Given the description of an element on the screen output the (x, y) to click on. 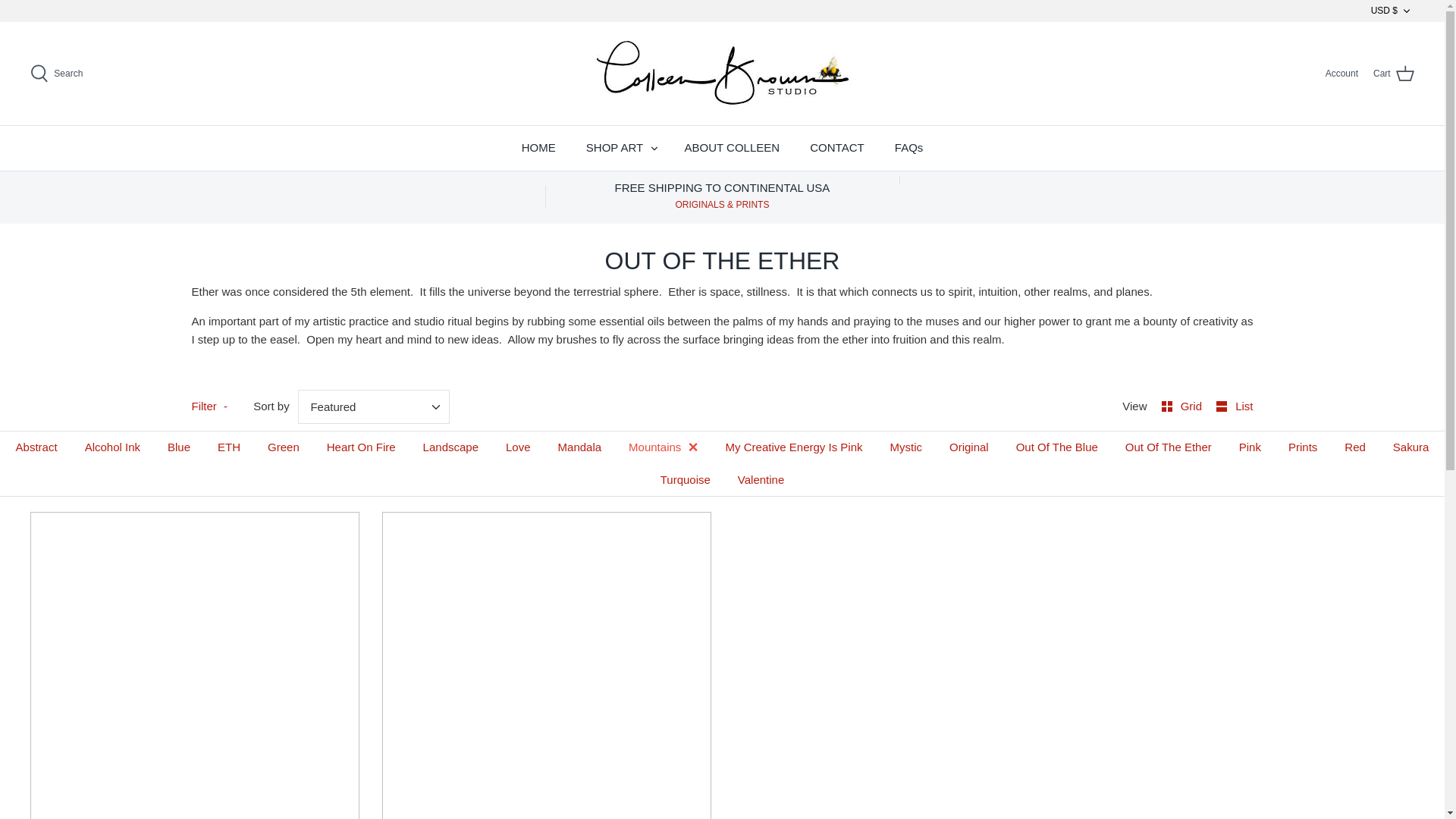
Remove tag mountains (662, 447)
Colleen Brown Studio (722, 72)
Narrow selection to products matching tag original (969, 447)
Narrow selection to products matching tag out of the ether (1168, 447)
Narrow selection to products matching tag mandala (579, 447)
Toggle menu (654, 148)
Narrow selection to products matching tag blue (178, 447)
Narrow selection to products matching tag love (518, 447)
Narrow selection to products matching tag green (283, 447)
Down (1406, 10)
Narrow selection to products matching tag abstract (36, 447)
Narrow selection to products matching tag pink (1250, 447)
Narrow selection to products matching tag mystic (906, 447)
Narrow selection to products matching tag Out of the Blue (1057, 447)
